Given the description of an element on the screen output the (x, y) to click on. 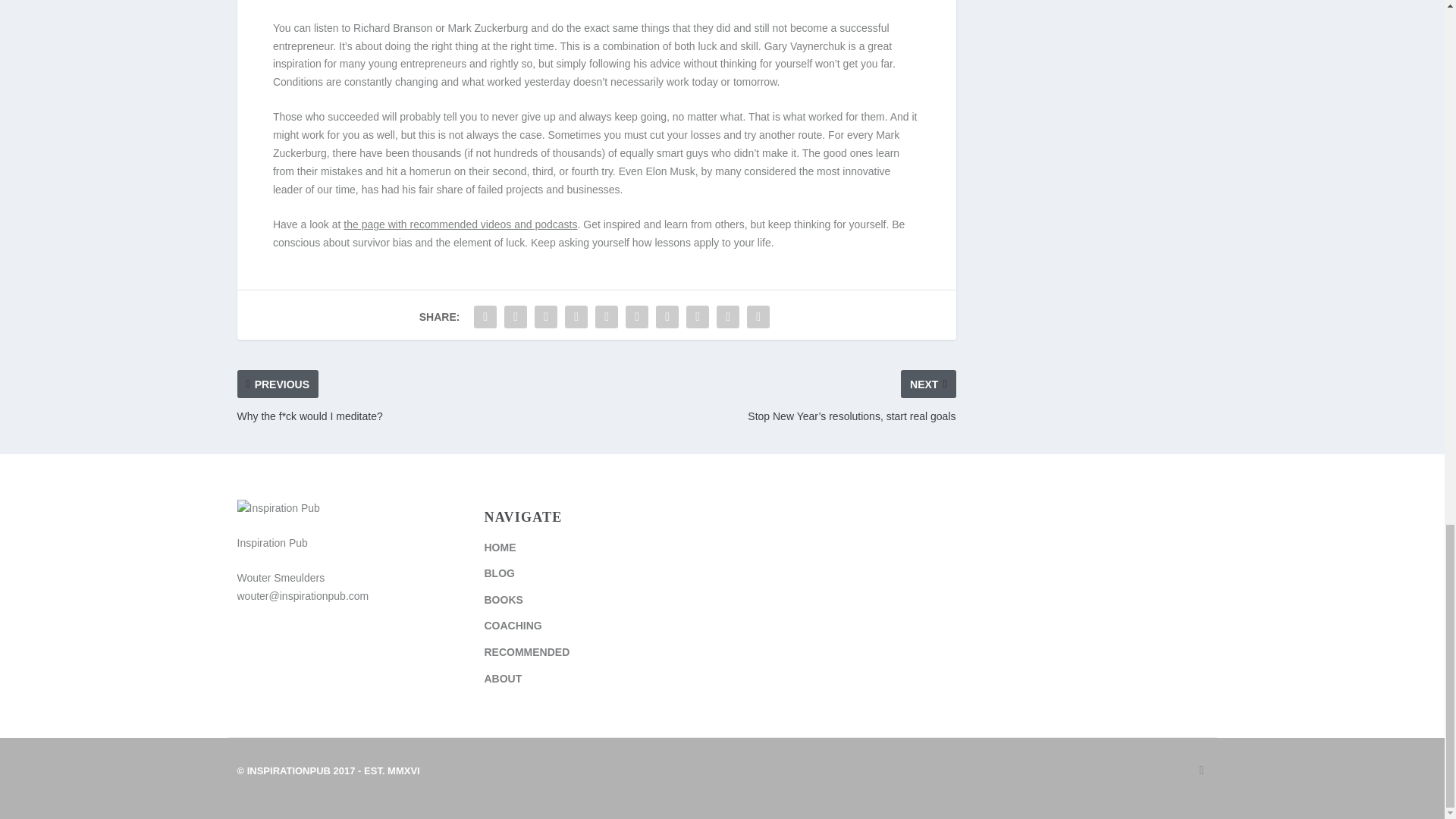
BOOKS (502, 599)
Inspiration Pub (327, 770)
HOME (499, 547)
the page with recommended videos and podcast (457, 224)
BLOG (498, 573)
